Given the description of an element on the screen output the (x, y) to click on. 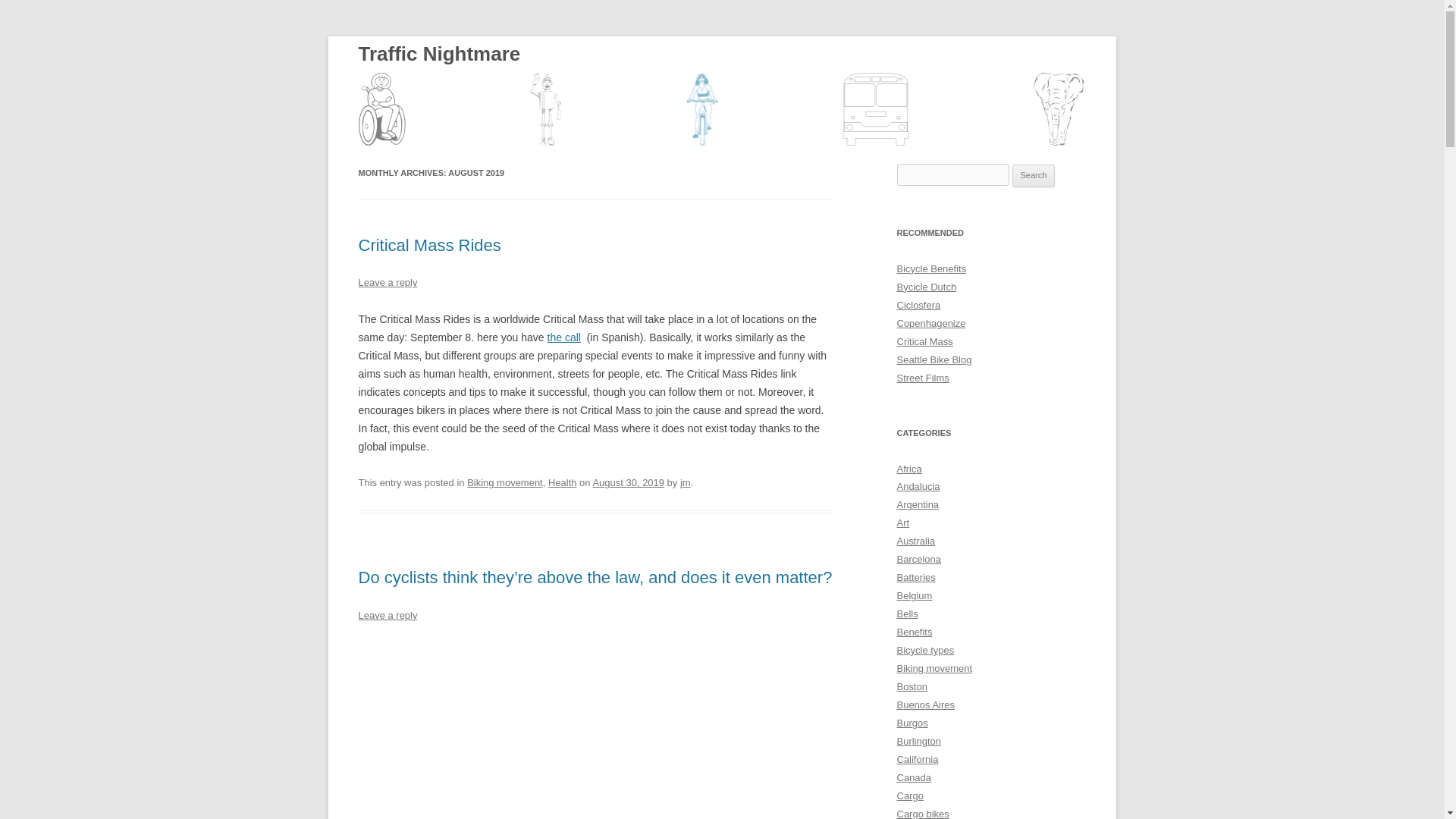
Leave a reply (387, 282)
Traffic Nightmare (438, 90)
the call (563, 337)
August 30, 2019 (627, 482)
Search (1033, 175)
View all posts by jm (684, 482)
Health (562, 482)
Leave a reply (387, 614)
12:00 pm (627, 482)
Biking movement (505, 482)
jm (684, 482)
Critical Mass Rides (429, 244)
